Given the description of an element on the screen output the (x, y) to click on. 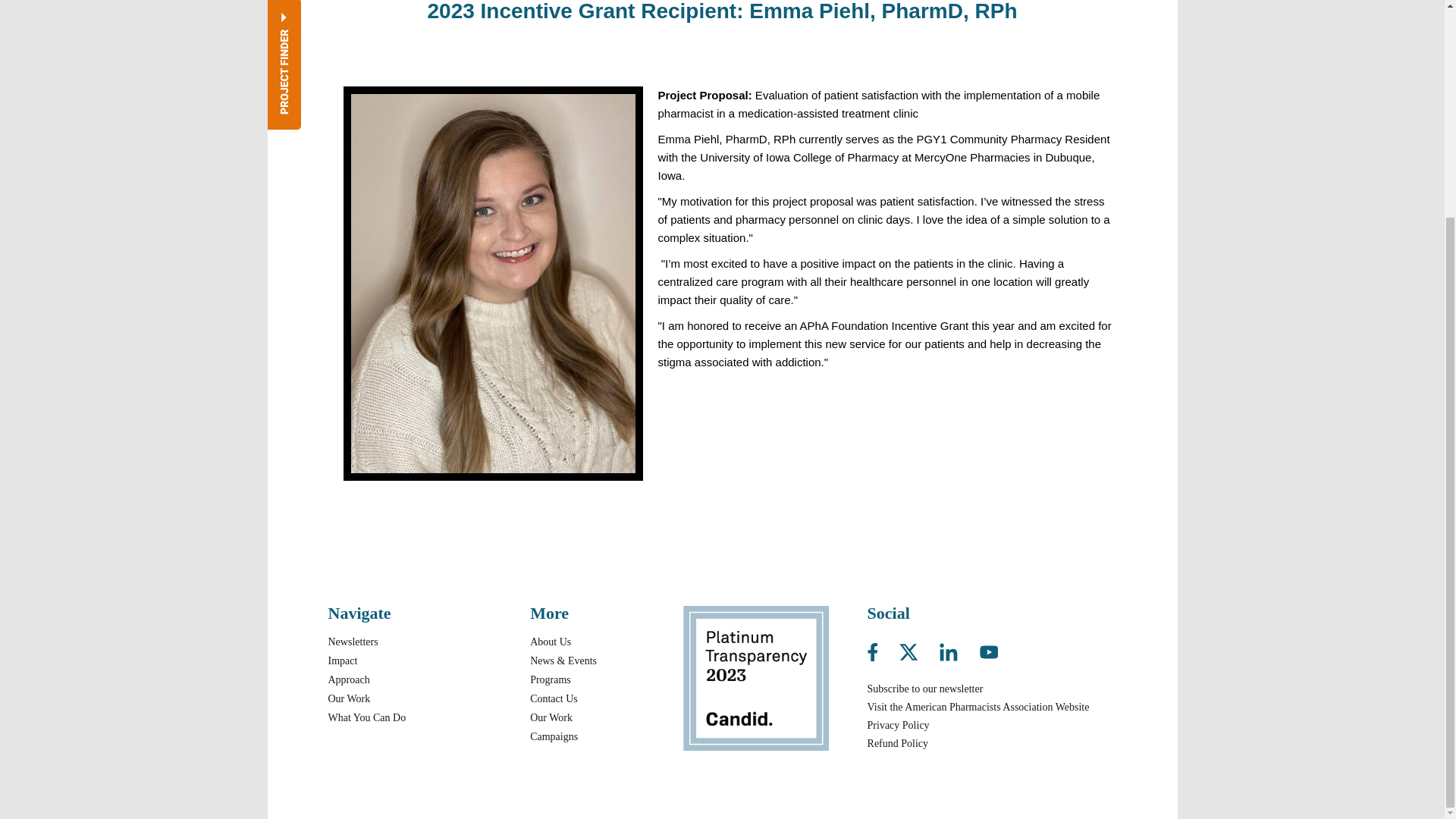
Our Work (550, 717)
Newsletters (352, 641)
Contact Us (553, 697)
Impact (341, 659)
LinkedIn (957, 648)
Approach (348, 679)
YouTube (988, 648)
Our Work (348, 697)
Facebook (881, 648)
About Us (549, 641)
